Given the description of an element on the screen output the (x, y) to click on. 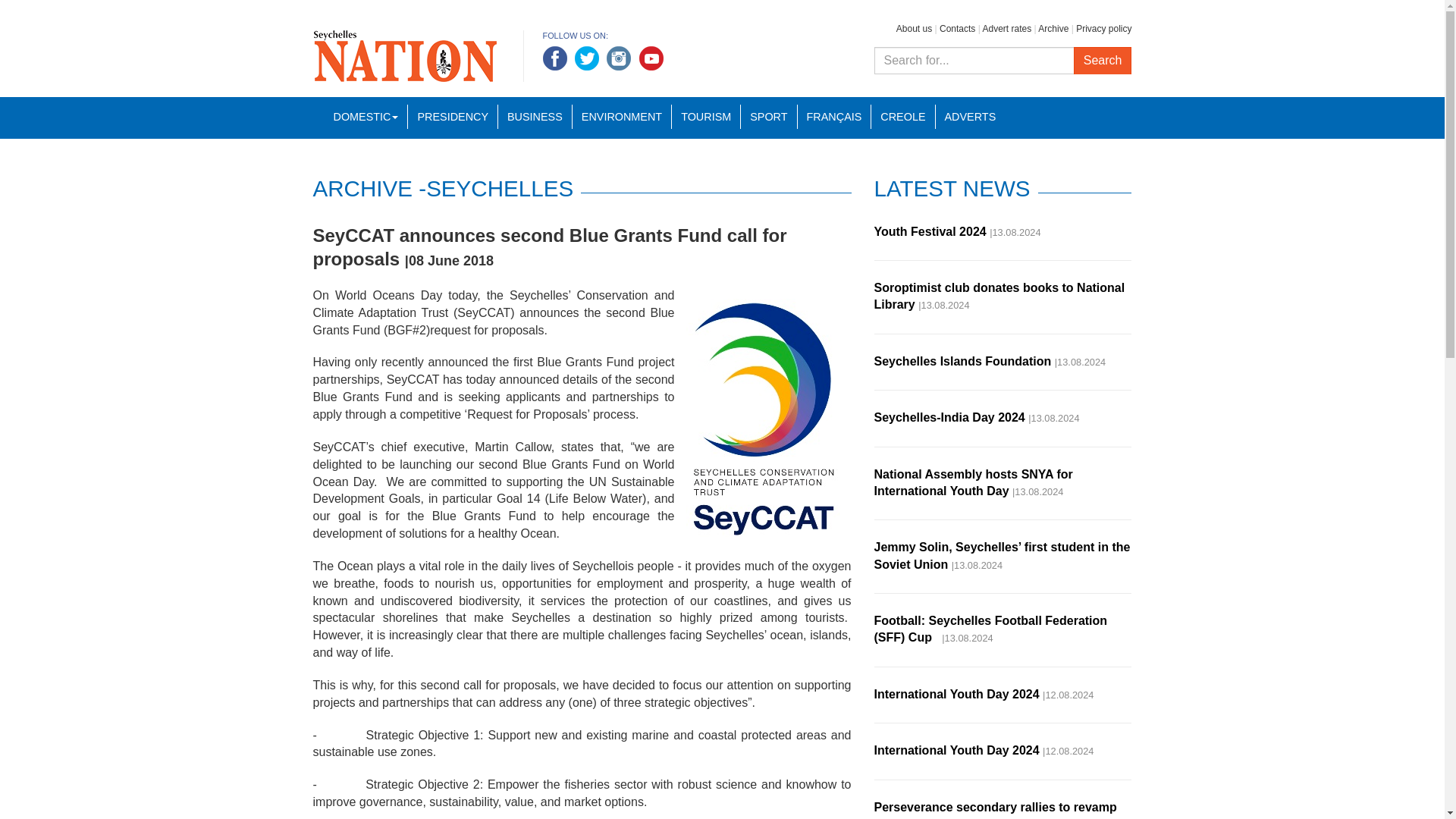
ADVERTS (970, 116)
International Youth Day 2024 (956, 694)
Seychelles Islands Foundation (962, 360)
About us (913, 28)
SPORT (767, 116)
DOMESTIC (365, 116)
Contacts (957, 28)
National Assembly hosts SNYA for International Youth Day (972, 481)
CREOLE (902, 116)
TOURISM (705, 116)
